Given the description of an element on the screen output the (x, y) to click on. 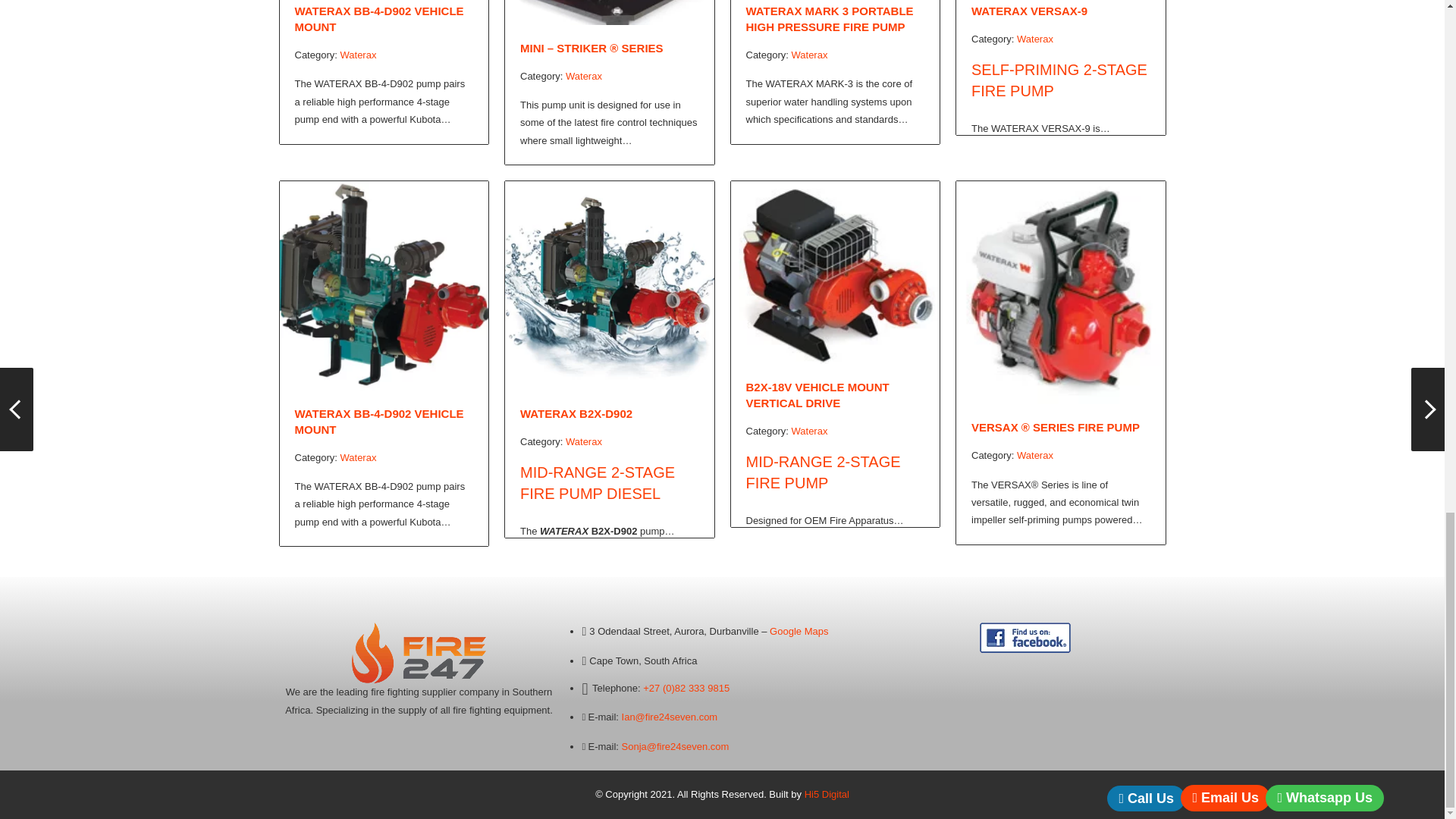
websitelogo (419, 652)
fb3 (1024, 637)
